Given the description of an element on the screen output the (x, y) to click on. 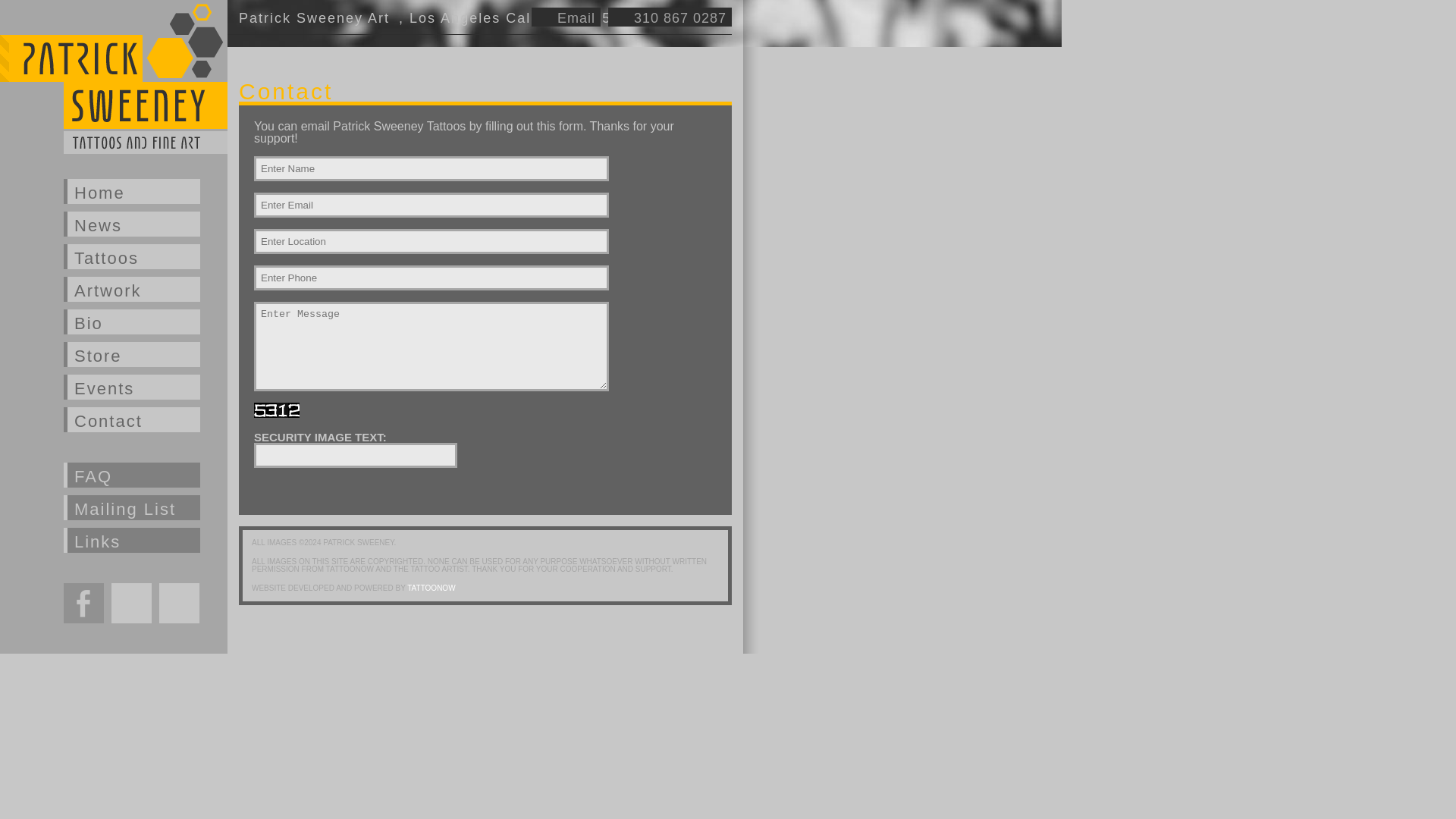
Send Message (316, 491)
Patrick Sweeney Tattoos and Fine Art (113, 76)
Events (132, 386)
Contact (132, 419)
Mailing List (132, 507)
Send Message (316, 491)
Follow Patrick Sweeney on Twitter (131, 603)
Tattoos (132, 256)
Bio (132, 321)
Store (132, 354)
Artwork (132, 289)
Follow Patrick Sweeney on Instagram (178, 603)
Email (565, 16)
Follow Patrick Sweeney on Facebook (83, 603)
Home (132, 191)
